Given the description of an element on the screen output the (x, y) to click on. 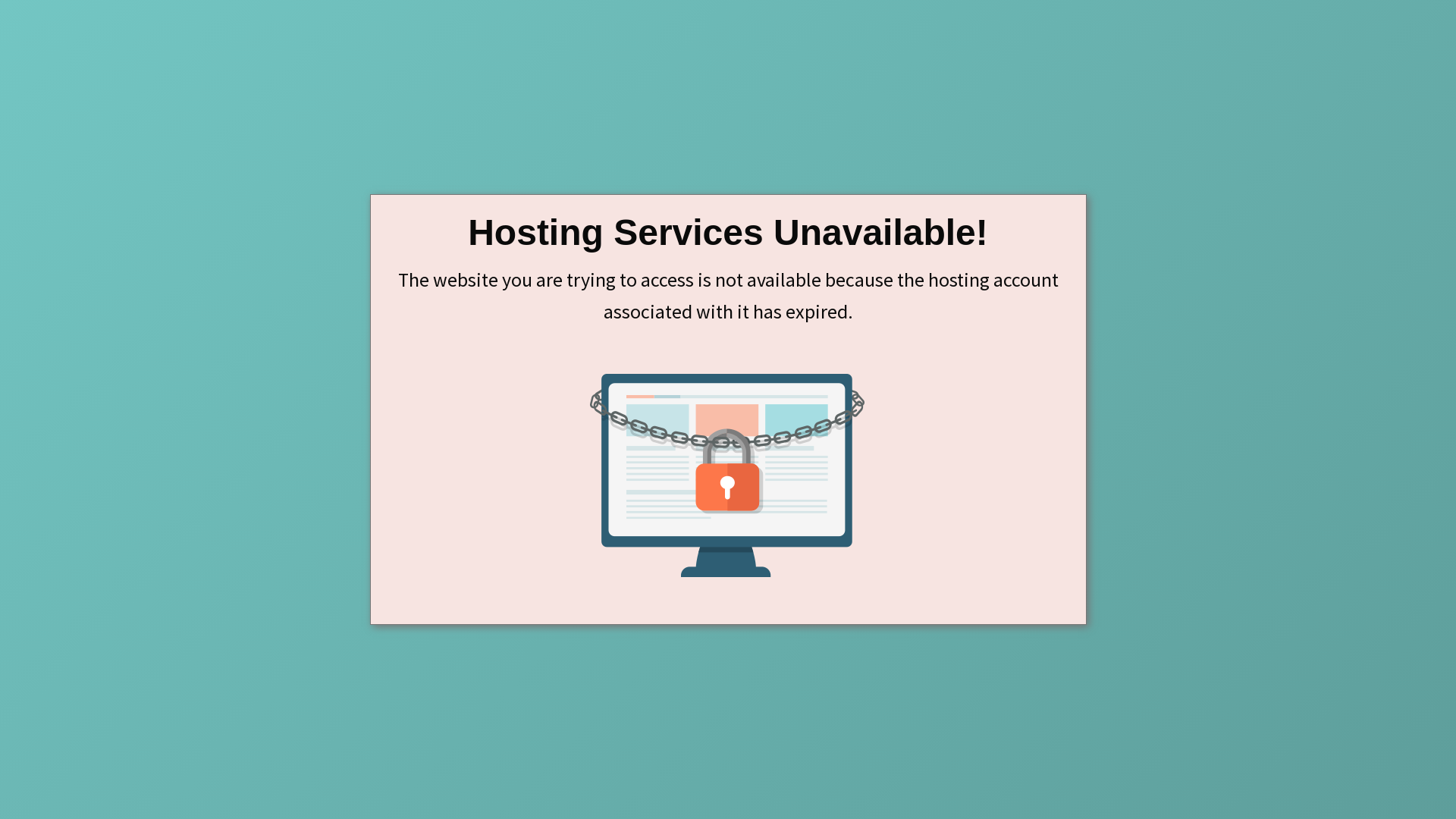
Hosting Services Unavailable Element type: hover (727, 474)
